Given the description of an element on the screen output the (x, y) to click on. 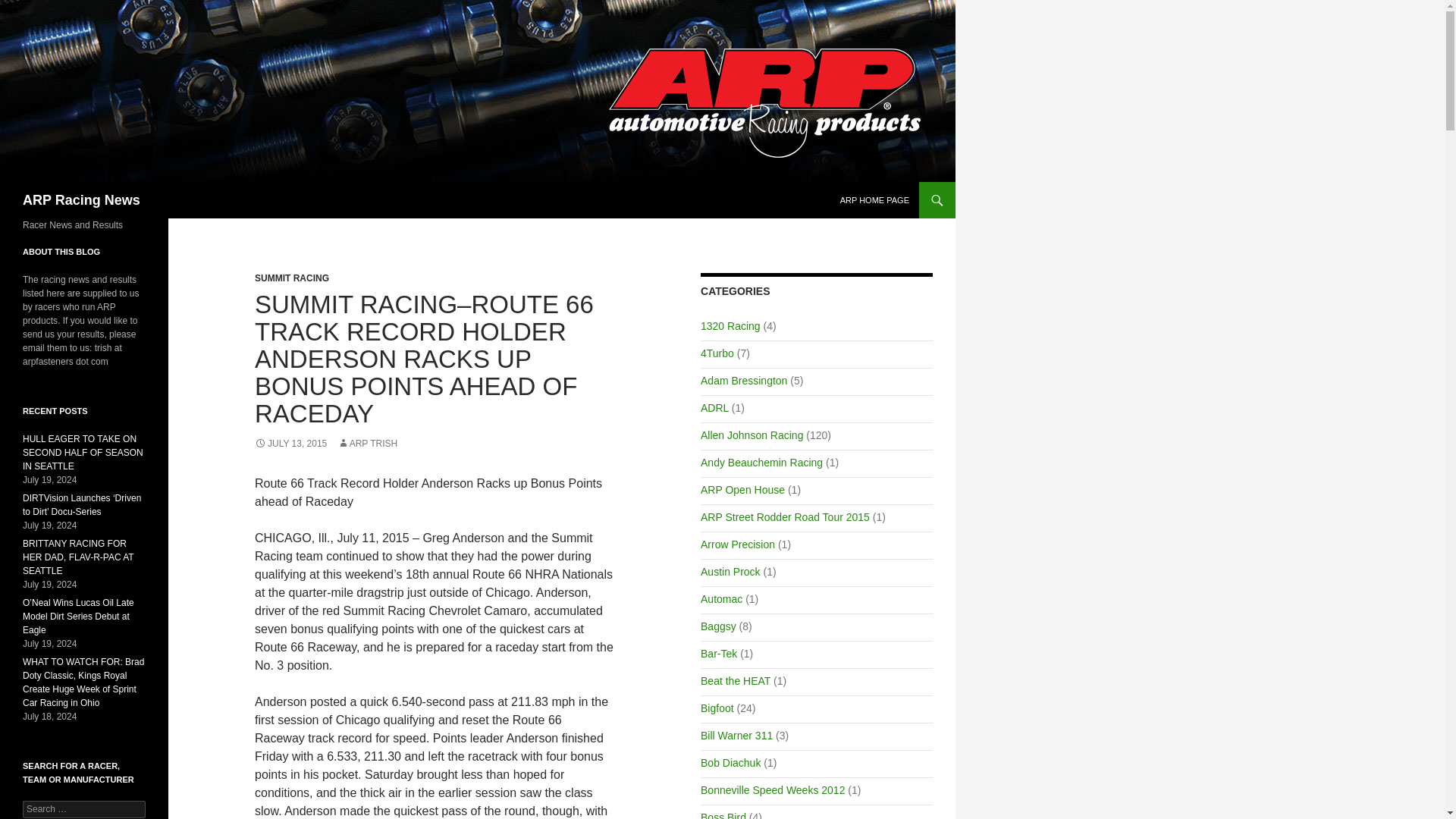
Adam Bressington (743, 380)
Beat the HEAT (735, 680)
Baggsy (718, 625)
1320 Racing (730, 326)
Bigfoot (716, 707)
Allen Johnson Racing (751, 435)
Arrow Precision (737, 544)
Bar-Tek (718, 653)
JULY 13, 2015 (290, 443)
ARP TRISH (367, 443)
ARP HOME PAGE (874, 199)
Automac (721, 598)
ARP Street Rodder Road Tour 2015 (784, 517)
ARP Racing News (81, 199)
